Given the description of an element on the screen output the (x, y) to click on. 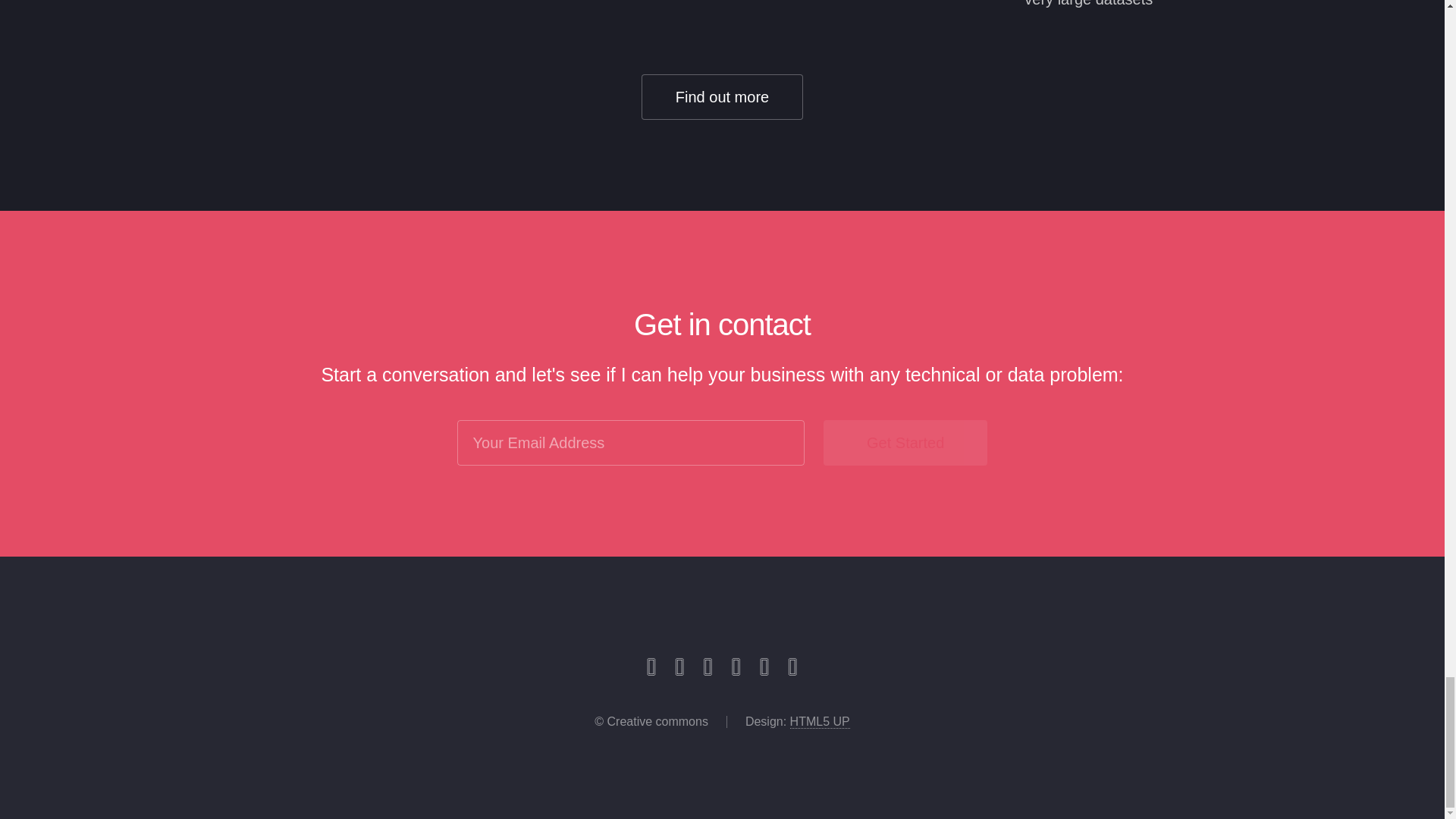
Get Started (906, 443)
Find out more (722, 96)
HTML5 UP (820, 721)
Get Started (906, 443)
